Given the description of an element on the screen output the (x, y) to click on. 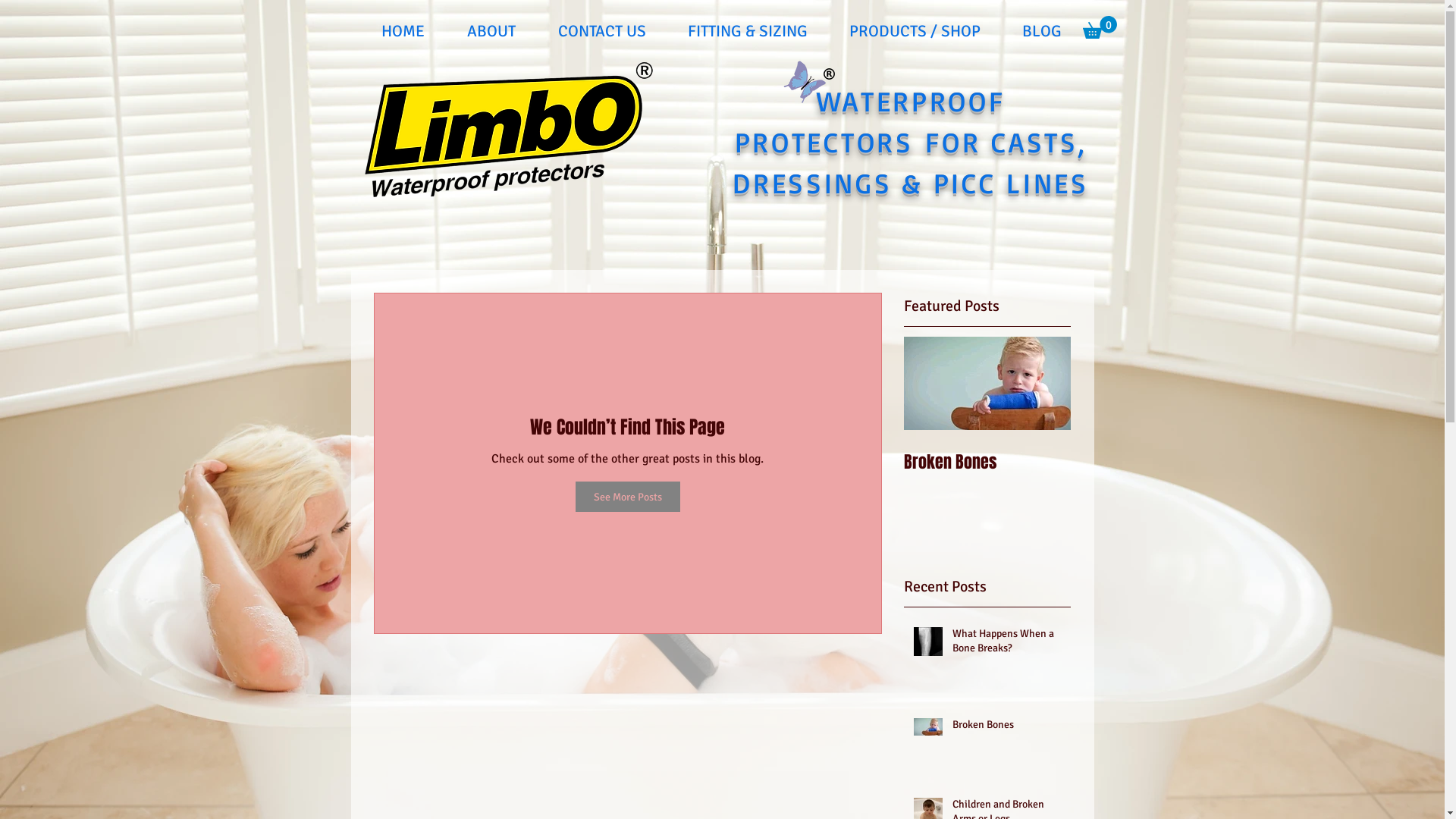
FITTING & SIZING Element type: text (747, 31)
HealthSaver Registered Trademark Element type: hover (828, 73)
What Happens When a Bone Breaks? Element type: text (1006, 644)
Broken Bones Element type: text (1006, 727)
Broken Bones Element type: text (986, 461)
LimbO Waterproof Protectors - Australia Element type: hover (507, 129)
BLOG Element type: text (1041, 31)
ABOUT Element type: text (490, 31)
HOME Element type: text (402, 31)
CONTACT US Element type: text (601, 31)
See More Posts Element type: text (626, 496)
PRODUCTS / SHOP Element type: text (914, 31)
0 Element type: text (1099, 26)
